Given the description of an element on the screen output the (x, y) to click on. 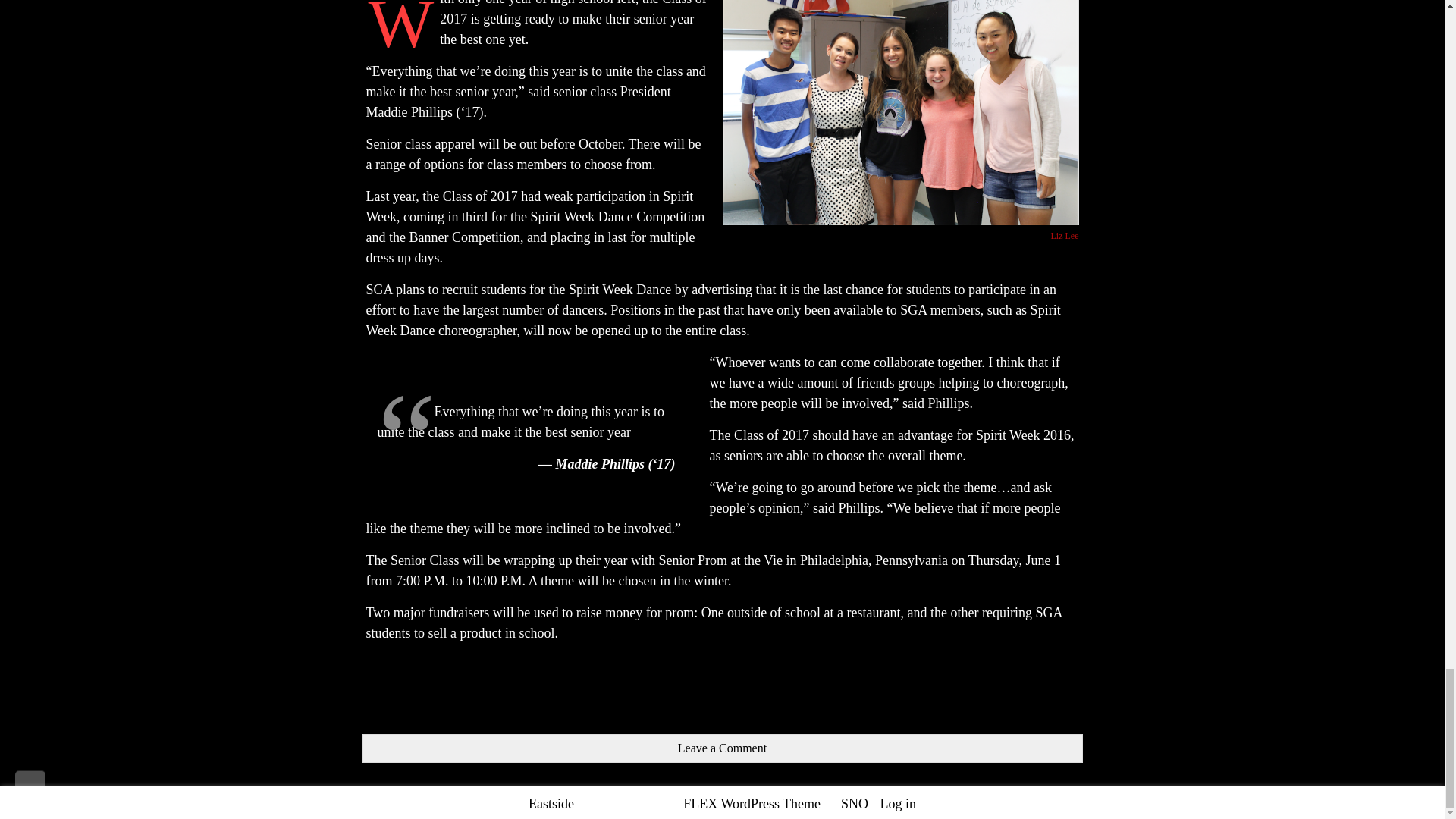
SNO (854, 803)
FLEX WordPress Theme (751, 803)
Log in (897, 803)
Liz Lee (1064, 235)
Eastside (550, 803)
